Given the description of an element on the screen output the (x, y) to click on. 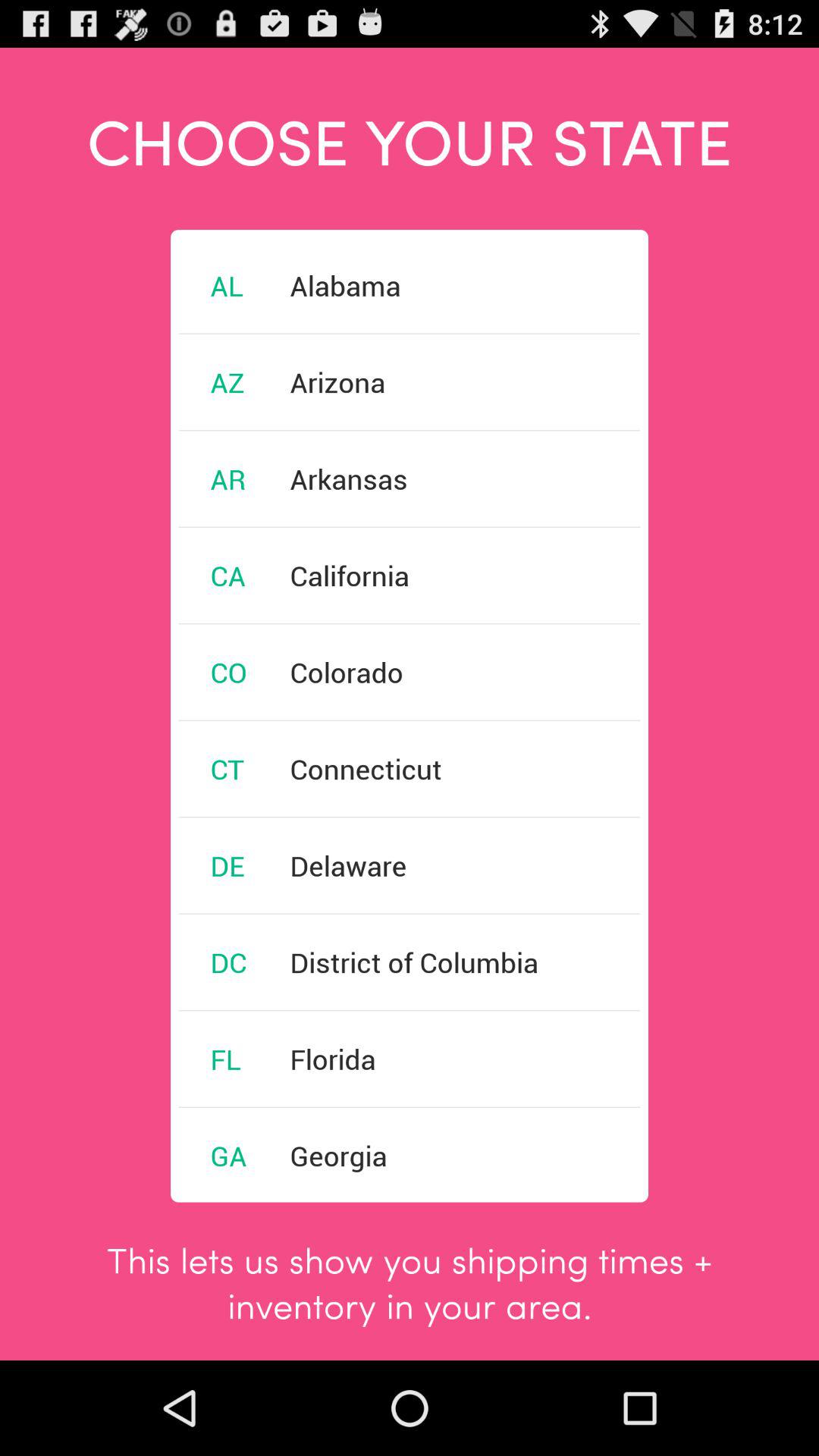
click item next to the co (346, 672)
